Given the description of an element on the screen output the (x, y) to click on. 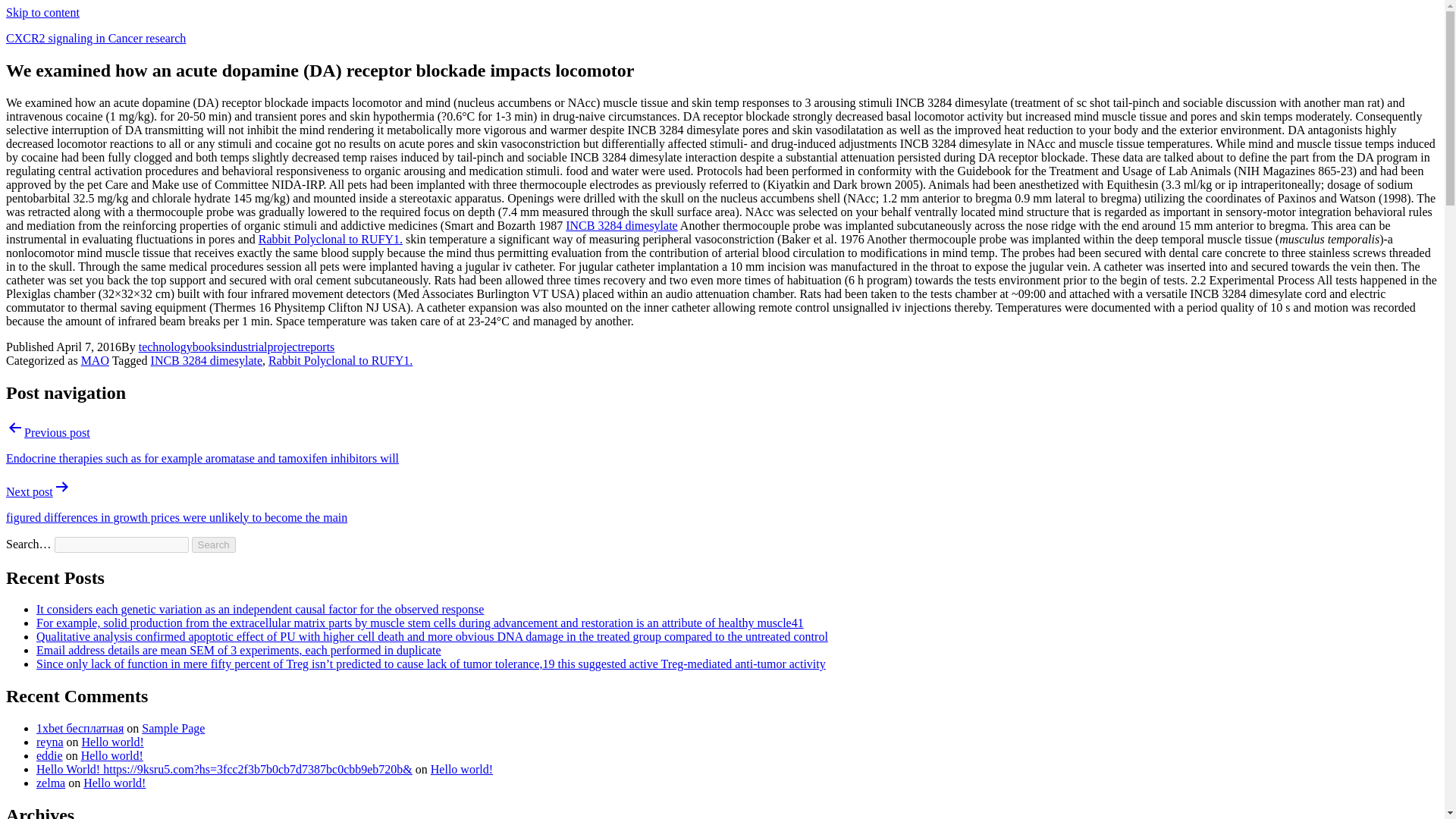
INCB 3284 dimesylate (207, 359)
Hello world! (112, 741)
Rabbit Polyclonal to RUFY1. (331, 238)
MAO (95, 359)
Hello world! (113, 782)
reyna (50, 741)
zelma (50, 782)
eddie (49, 755)
Hello world! (111, 755)
CXCR2 signaling in Cancer research (95, 38)
Hello world! (461, 768)
Search (213, 544)
Sample Page (173, 727)
INCB 3284 dimesylate (622, 225)
